Given the description of an element on the screen output the (x, y) to click on. 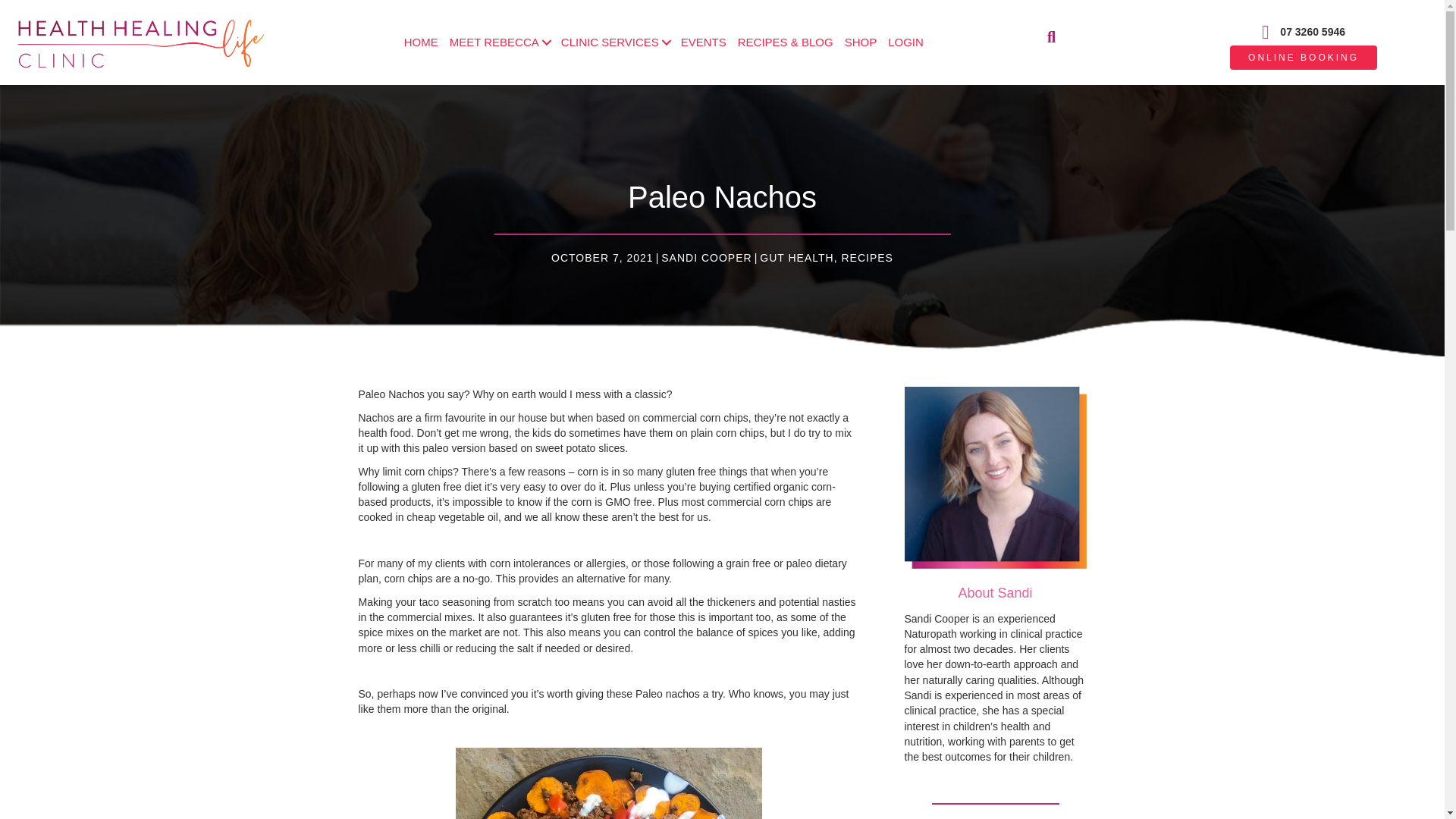
RP-HHLC-Logo (139, 42)
LOGIN (905, 42)
CLINIC SERVICES (615, 42)
GUT HEALTH (796, 257)
MEET REBECCA (499, 42)
EVENTS (703, 42)
HOME (421, 42)
SHOP (861, 42)
Sandi-Cooper-Naturapath (995, 477)
SANDI COOPER (706, 257)
RECIPES (866, 257)
ONLINE BOOKING (1303, 57)
